Given the description of an element on the screen output the (x, y) to click on. 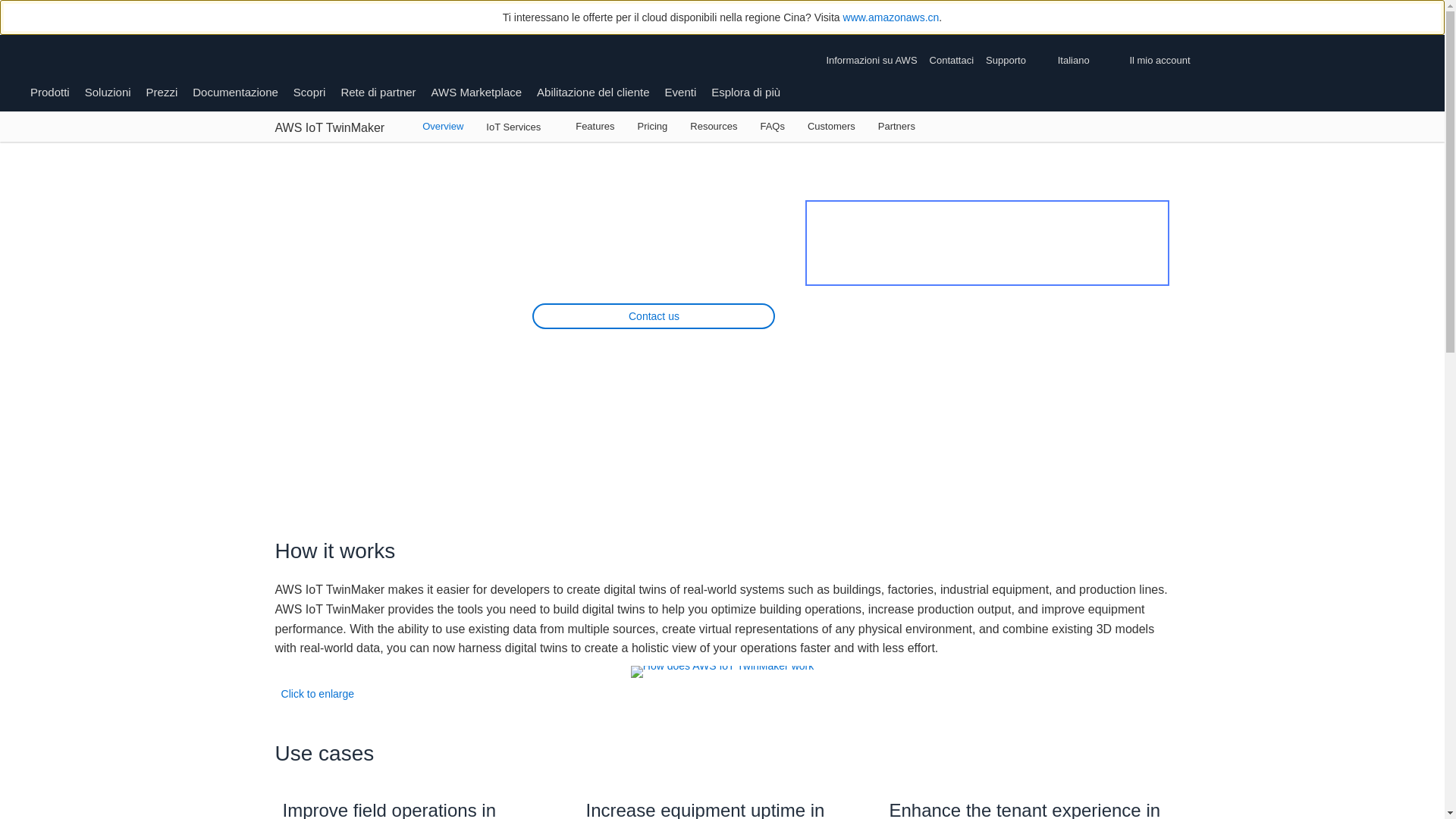
Italiano   (1087, 60)
Documentazione (235, 91)
Scopri (310, 91)
Informazioni su AWS (874, 60)
Supporto  (1015, 60)
Prodotti (49, 91)
Abilitazione del cliente (593, 91)
Soluzioni (107, 91)
Passa al contenuto principale (7, 148)
Eventi (681, 91)
Rete di partner (377, 91)
www.amazonaws.cn (891, 17)
AWS Marketplace (475, 91)
How does AWS IoT TwinMaker work (721, 671)
